Given the description of an element on the screen output the (x, y) to click on. 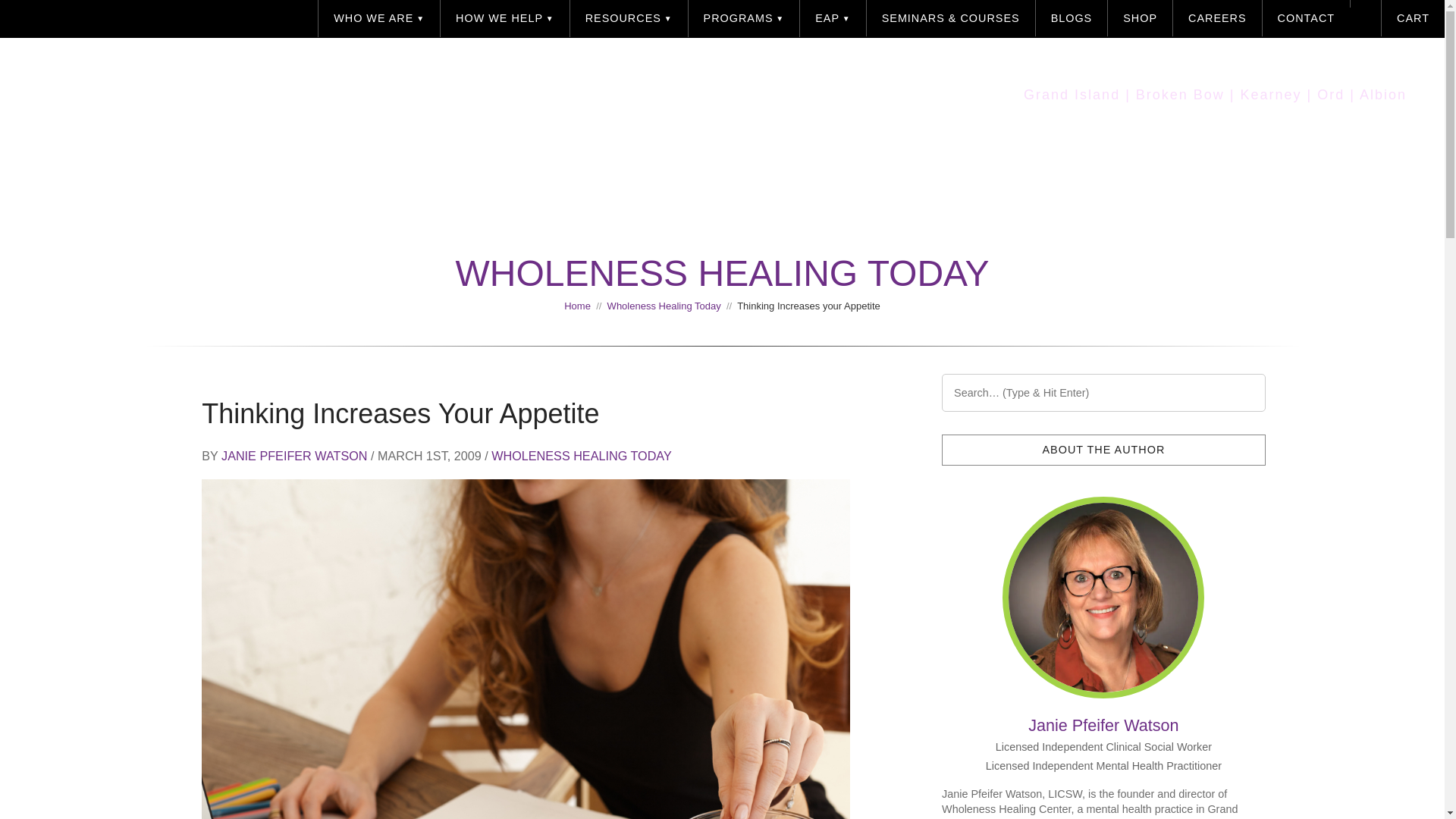
Posts by Janie Pfeifer Watson (1102, 724)
Search (31, 8)
Posts by Janie Pfeifer Watson (293, 455)
